Given the description of an element on the screen output the (x, y) to click on. 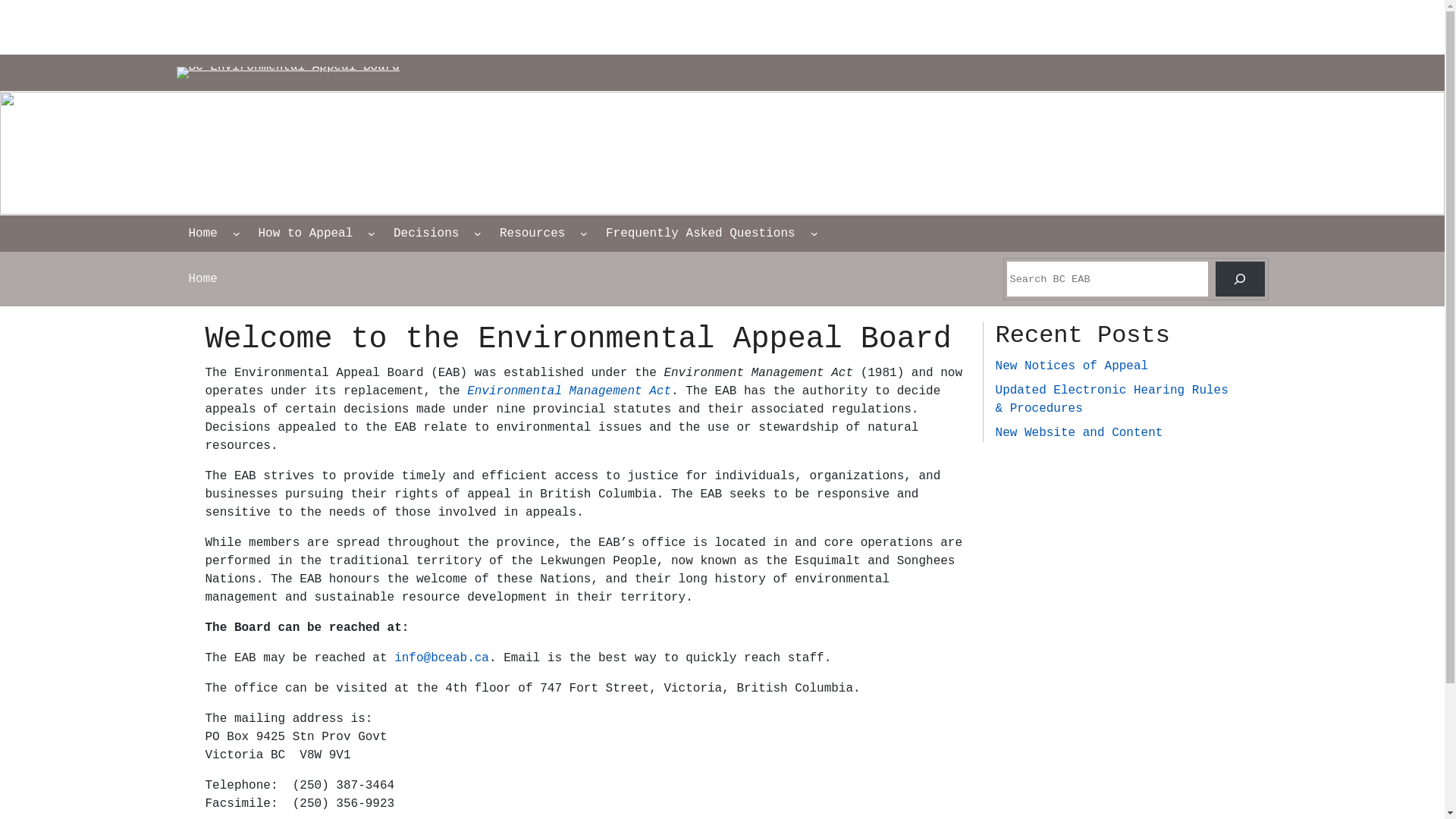
New Website and Content Element type: text (1079, 432)
Frequently Asked Questions Element type: text (700, 233)
Environmental Management Act Element type: text (569, 391)
Resources Element type: text (532, 233)
Updated Electronic Hearing Rules & Procedures Element type: text (1111, 399)
Home Element type: text (202, 233)
New Notices of Appeal Element type: text (1071, 366)
Decisions Element type: text (425, 233)
How to Appeal Element type: text (304, 233)
info@bceab.ca Element type: text (441, 658)
